Given the description of an element on the screen output the (x, y) to click on. 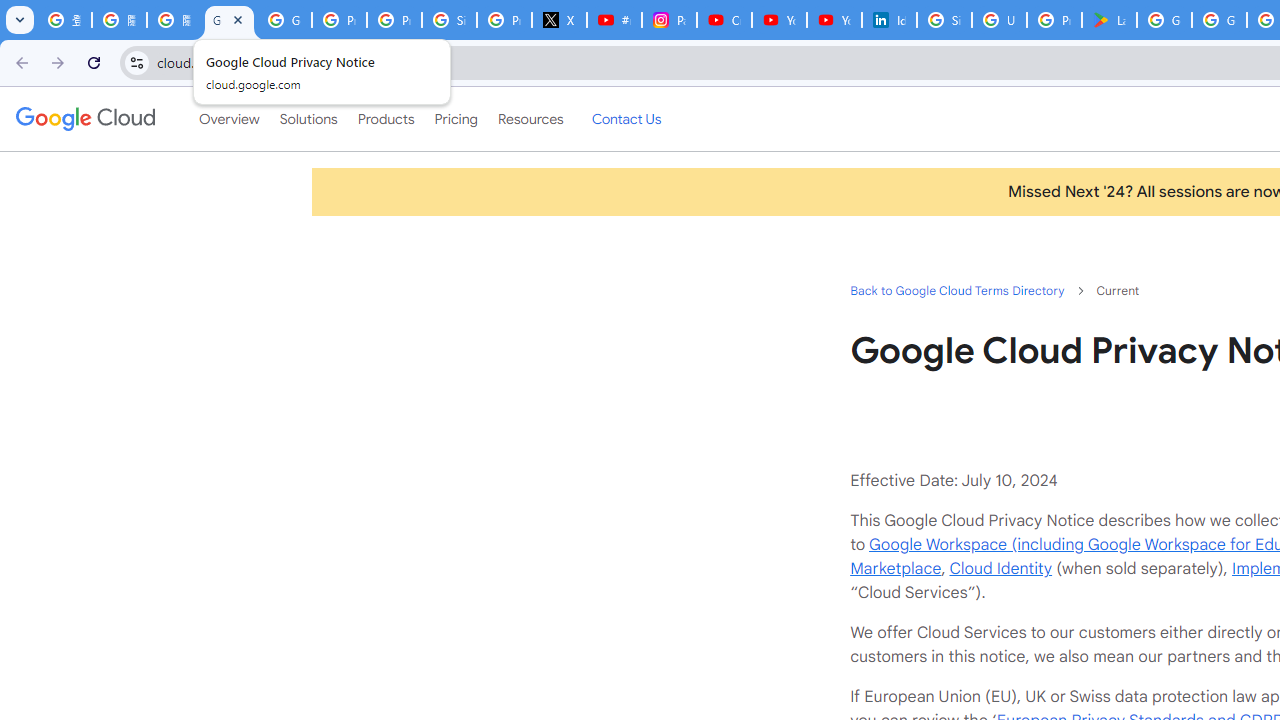
X (559, 20)
YouTube Culture & Trends - YouTube Top 10, 2021 (833, 20)
Last Shelter: Survival - Apps on Google Play (1108, 20)
Back to Google Cloud Terms Directory (956, 290)
Privacy Help Center - Policies Help (394, 20)
Solutions (308, 119)
Cloud Identity (1000, 568)
